Given the description of an element on the screen output the (x, y) to click on. 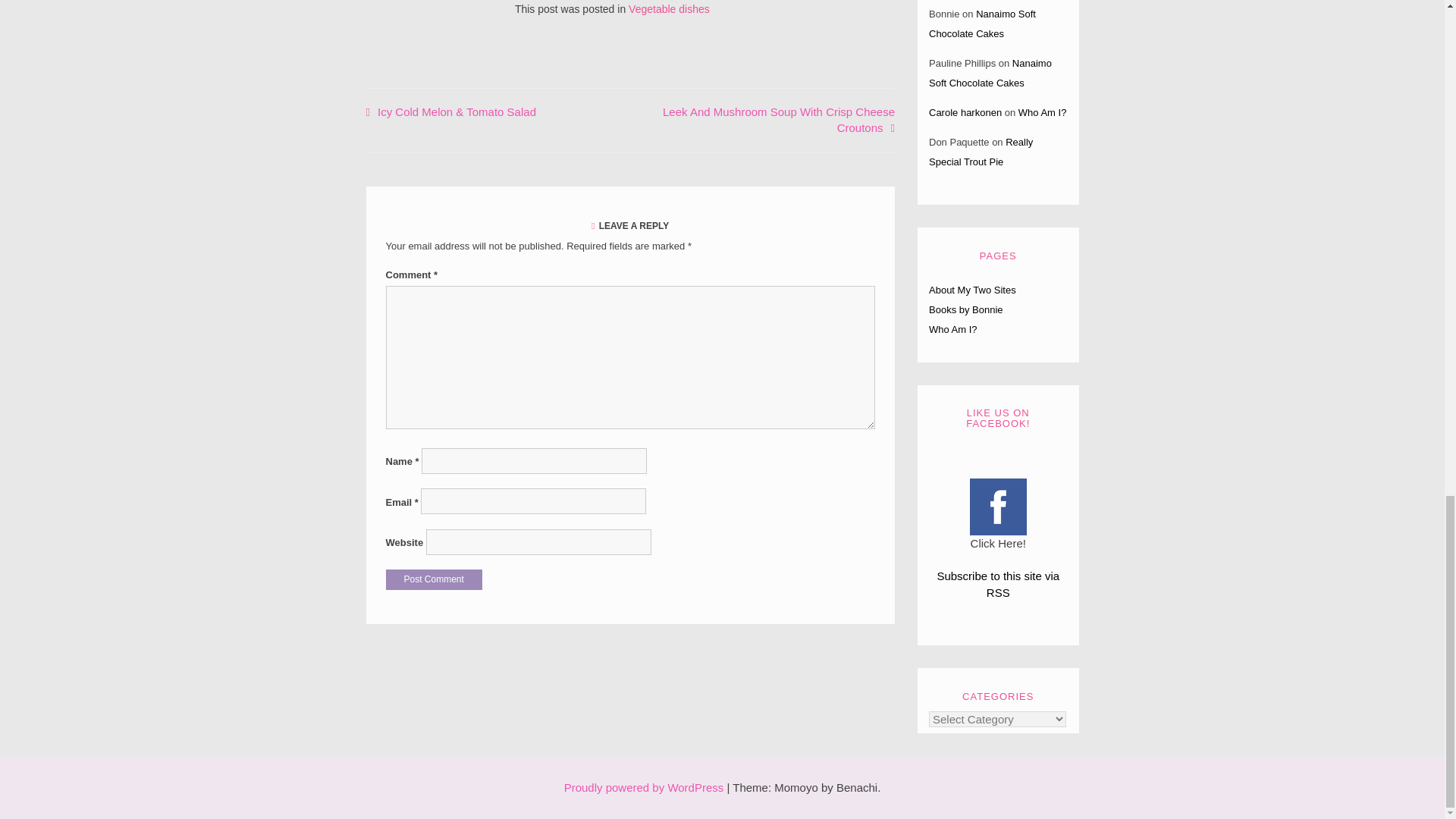
Nanaimo Soft Chocolate Cakes (981, 23)
Who Am I? (952, 328)
Who Am I? (1042, 112)
Subscribe to this site via RSS (997, 583)
About My Two Sites (972, 289)
Really Special Trout Pie (980, 151)
Post Comment (433, 578)
Carole harkonen (964, 112)
Vegetable dishes (669, 9)
Nanaimo Soft Chocolate Cakes (989, 72)
